Given the description of an element on the screen output the (x, y) to click on. 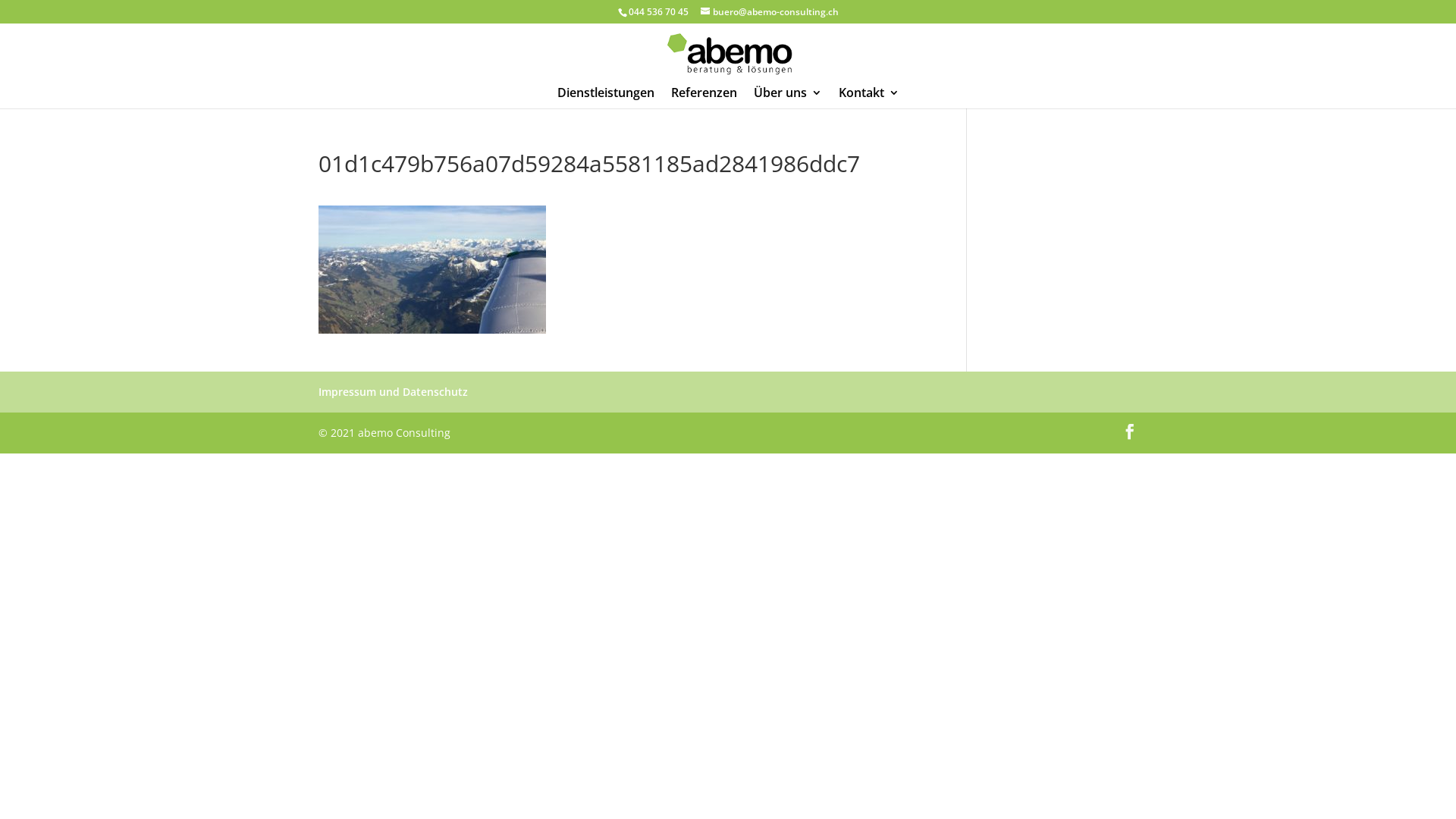
Impressum und Datenschutz Element type: text (392, 391)
Kontakt Element type: text (868, 97)
Referenzen Element type: text (703, 97)
Dienstleistungen Element type: text (604, 97)
buero@abemo-consulting.ch Element type: text (769, 11)
